Given the description of an element on the screen output the (x, y) to click on. 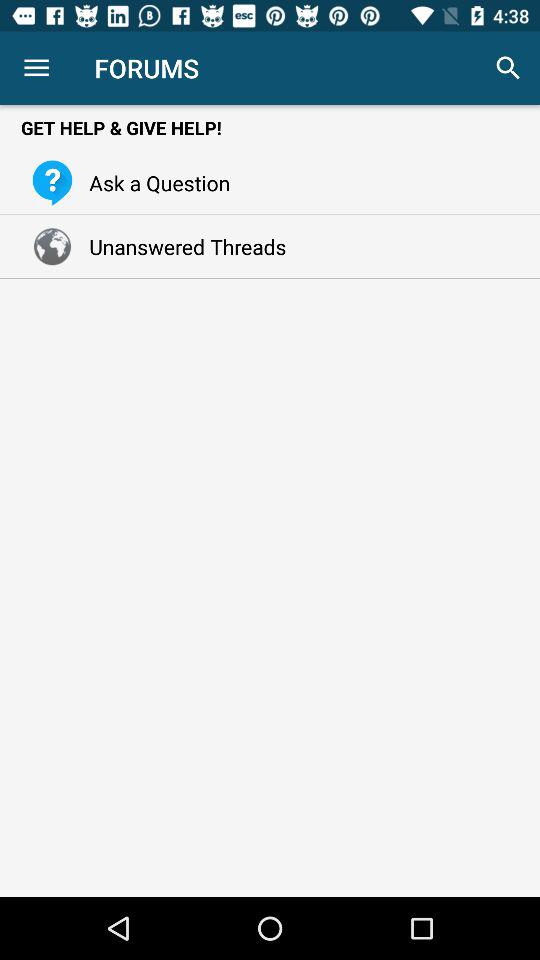
turn on the ask a question (154, 182)
